Given the description of an element on the screen output the (x, y) to click on. 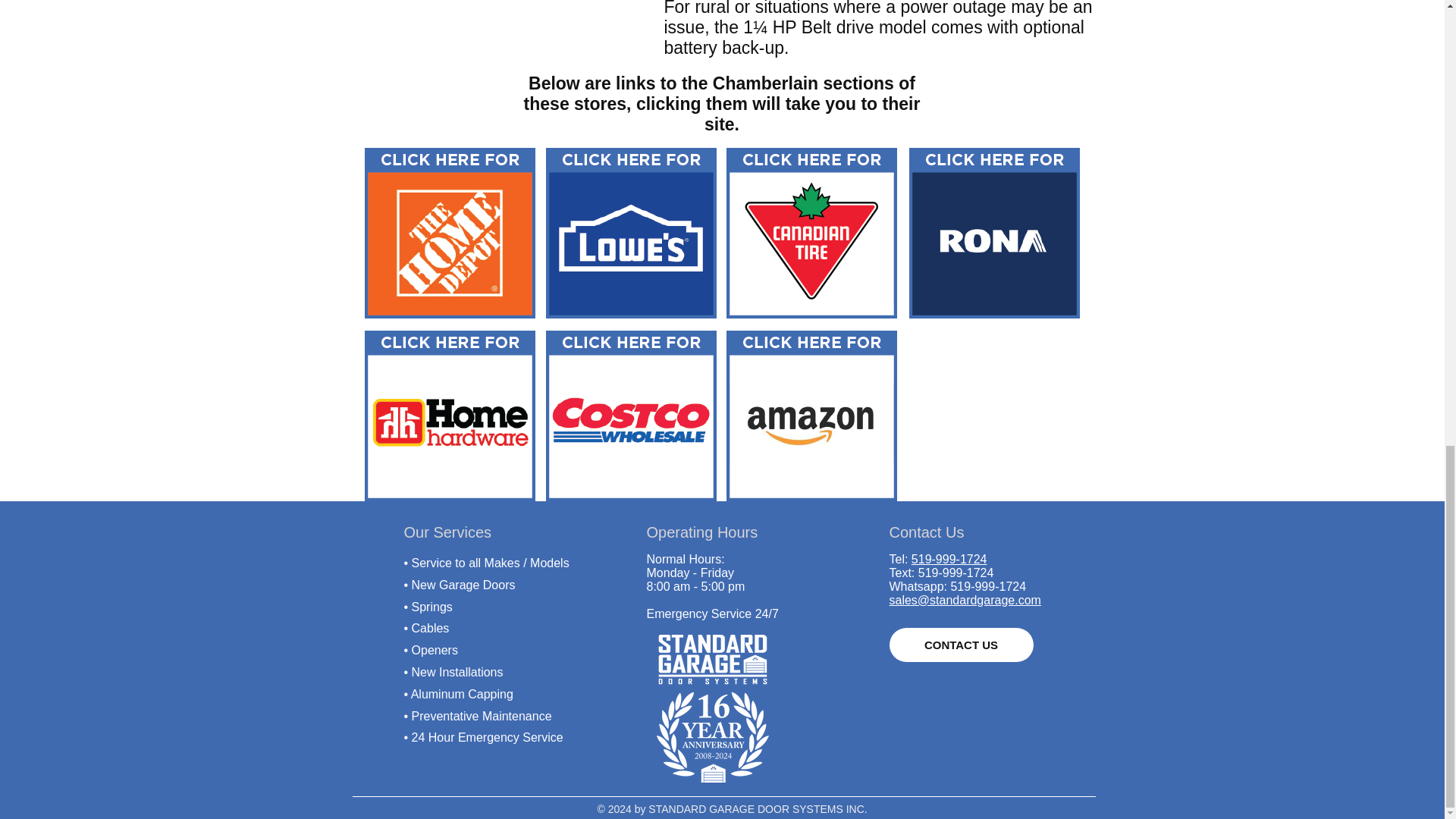
519-999-1724 (949, 558)
CONTACT US (960, 644)
